Given the description of an element on the screen output the (x, y) to click on. 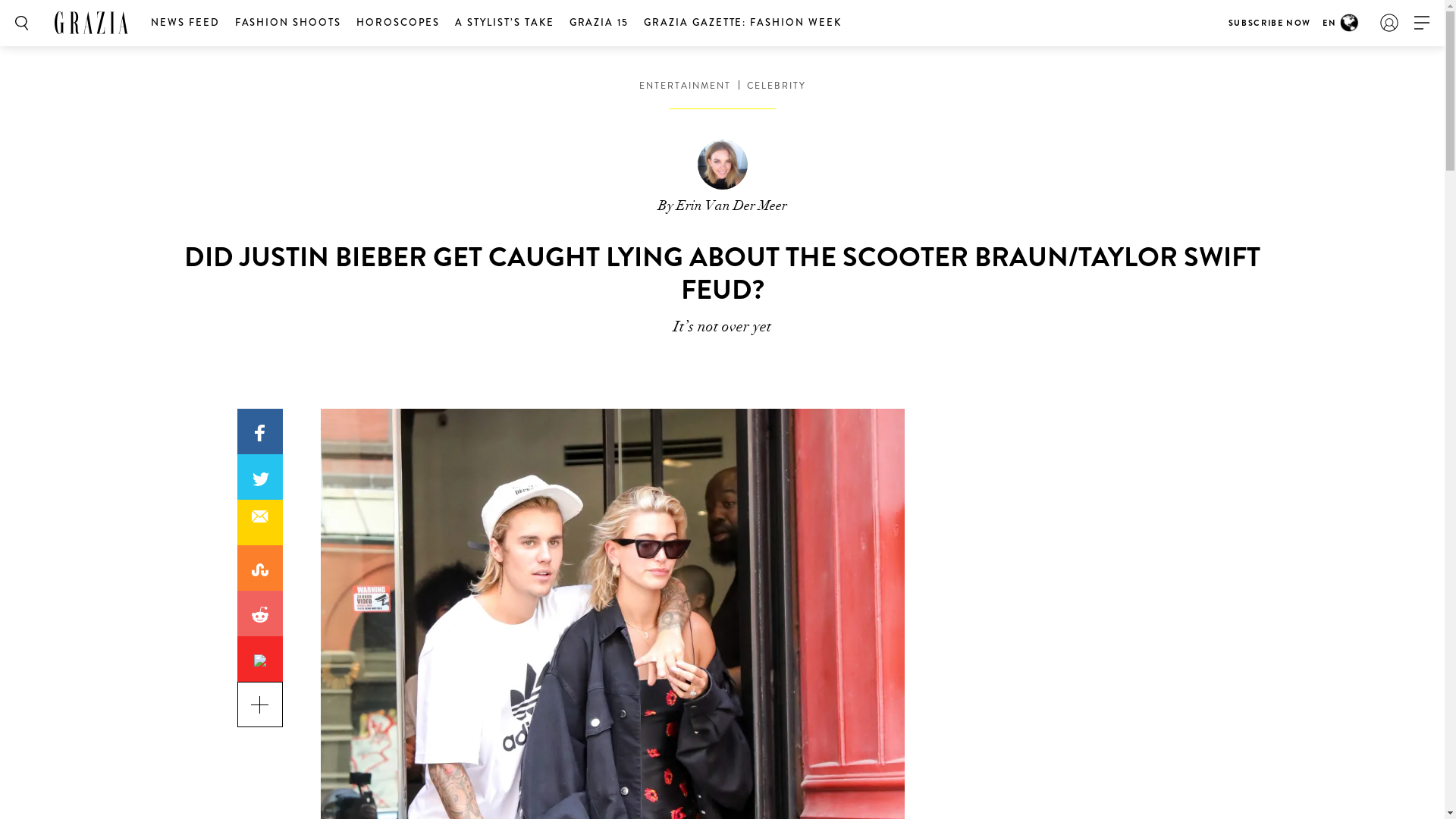
Flipboard Element type: hover (259, 658)
SUBSCRIBE NOW Element type: text (1269, 22)
StumbleUpon Element type: hover (259, 569)
Reddit Element type: hover (259, 613)
FASHION SHOOTS Element type: text (288, 22)
Twitter Element type: hover (259, 476)
Facebook Element type: hover (259, 432)
GRAZIA GAZETTE: FASHION WEEK Element type: text (742, 22)
ENTERTAINMENT Element type: text (684, 85)
CELEBRITY Element type: text (775, 85)
Twitter Element type: hover (259, 478)
GRAZIA 15 Element type: text (599, 22)
Reddit Element type: hover (259, 614)
NEWS FEED Element type: text (184, 22)
opener Element type: text (1421, 22)
user Element type: text (1389, 22)
HOROSCOPES Element type: text (398, 22)
Facebook Element type: hover (259, 431)
StumbleUpon Element type: hover (259, 567)
